Given the description of an element on the screen output the (x, y) to click on. 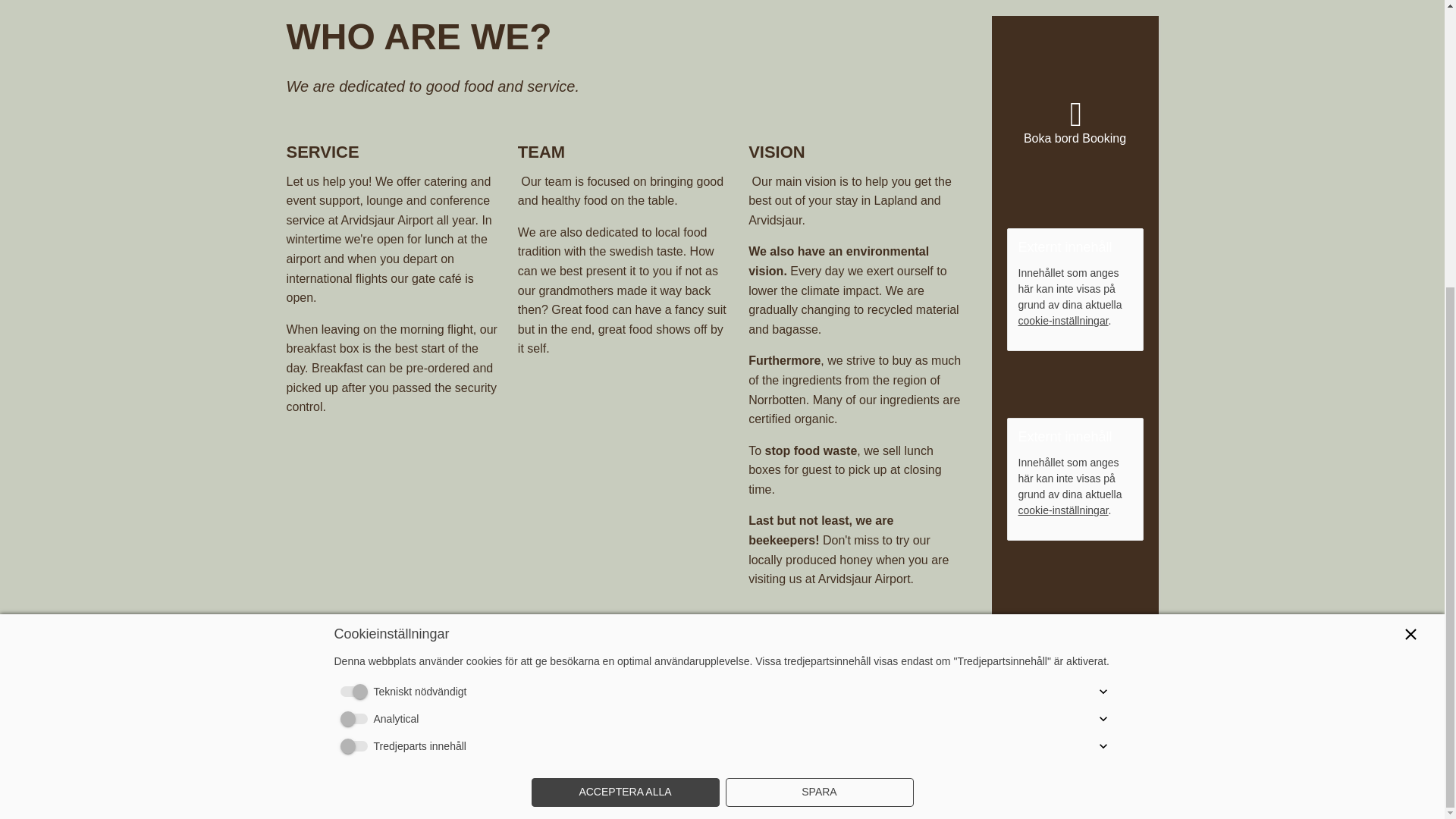
CONTACT US (1050, 762)
CATERING  (797, 762)
START (370, 762)
GALLERY (646, 762)
ABOUT US (509, 762)
  BOOKING (947, 762)
